Given the description of an element on the screen output the (x, y) to click on. 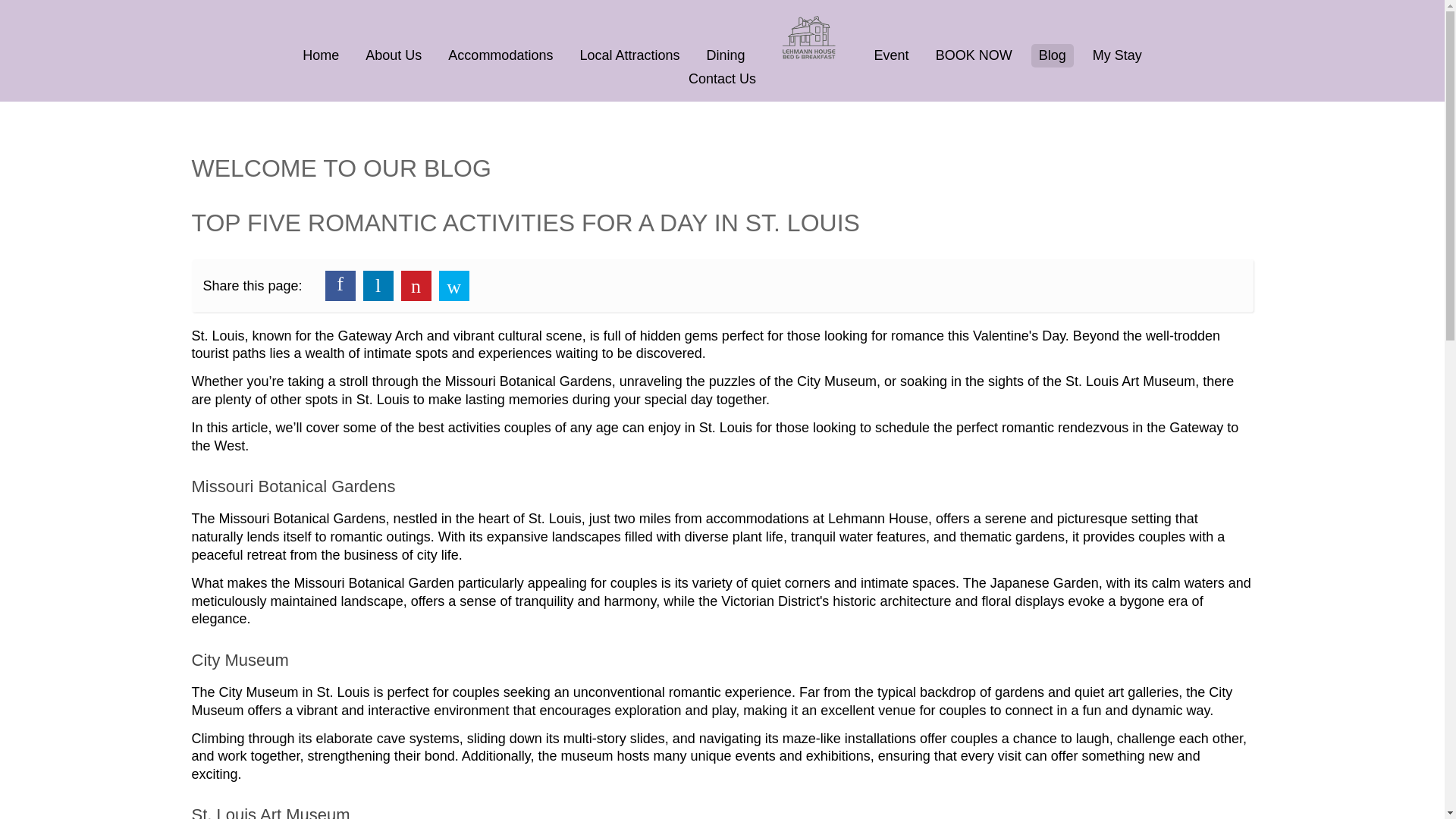
Event (891, 55)
Attractions (629, 55)
Local Attractions (629, 55)
Facebook (339, 285)
Dining (725, 55)
My Stay (1117, 55)
Contact Us (721, 78)
Pinterest (415, 285)
BOOK NOW (974, 55)
My Stay (1117, 55)
